Given the description of an element on the screen output the (x, y) to click on. 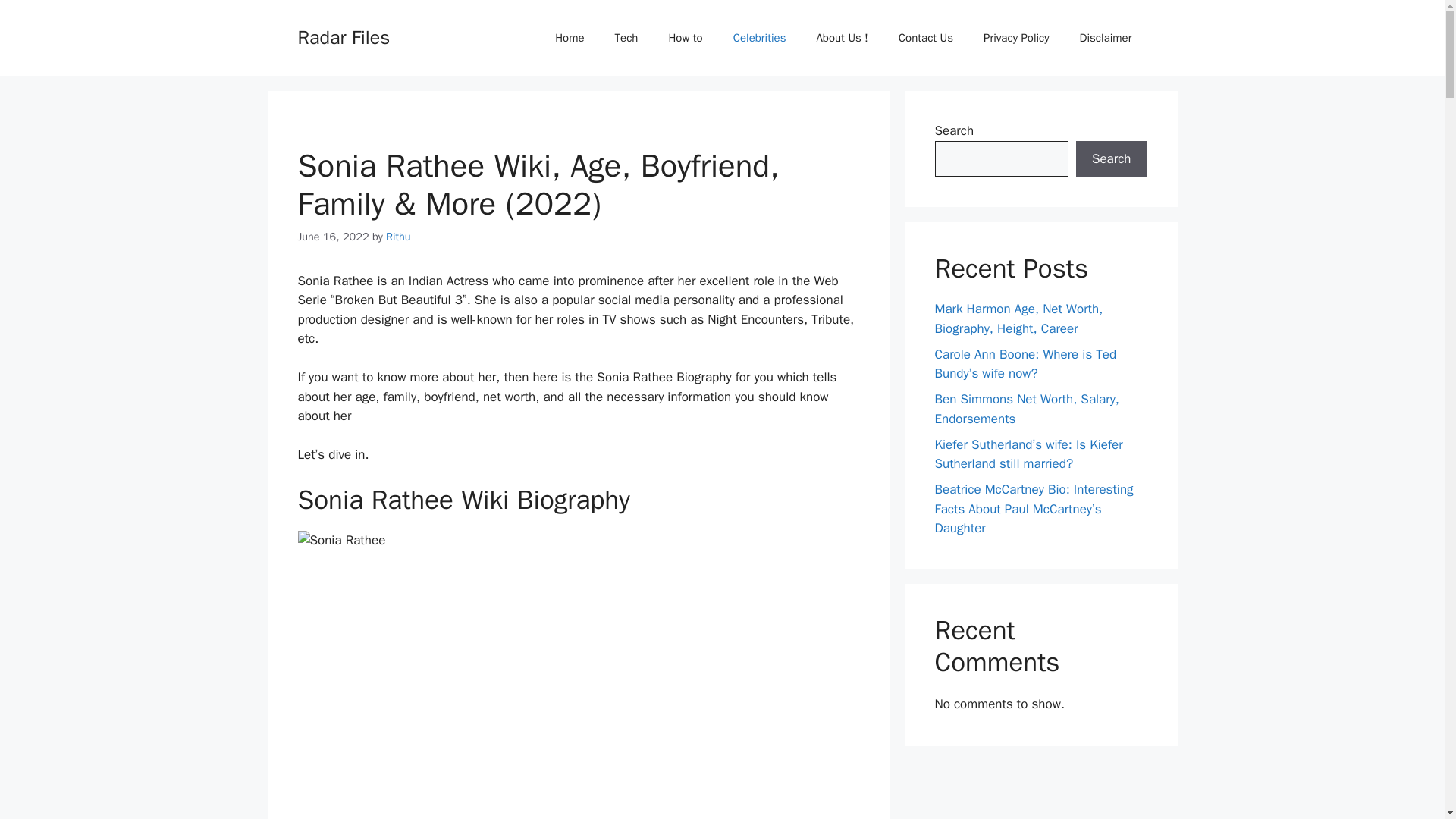
Radar Files (343, 37)
About Us ! (841, 37)
Disclaimer (1105, 37)
Contact Us (925, 37)
Privacy Policy (1016, 37)
Search (1111, 158)
How to (684, 37)
View all posts by Rithu (397, 236)
Home (569, 37)
Rithu (397, 236)
Ben Simmons Net Worth, Salary, Endorsements (1026, 408)
Tech (626, 37)
Mark Harmon Age, Net Worth, Biography, Height, Career (1018, 318)
Celebrities (759, 37)
